Given the description of an element on the screen output the (x, y) to click on. 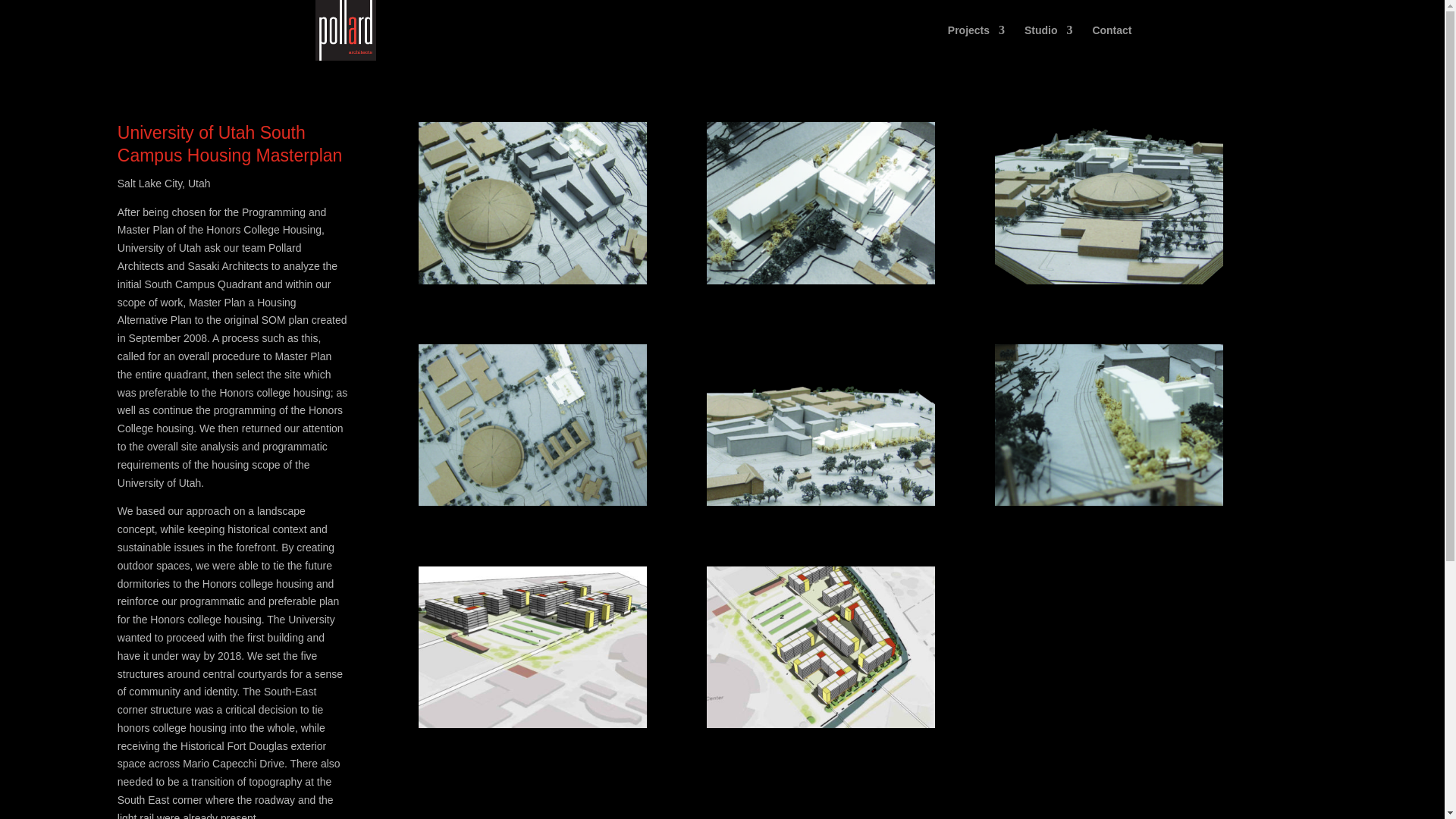
Contact (1111, 42)
Studio (1049, 42)
Projects (975, 42)
